Given the description of an element on the screen output the (x, y) to click on. 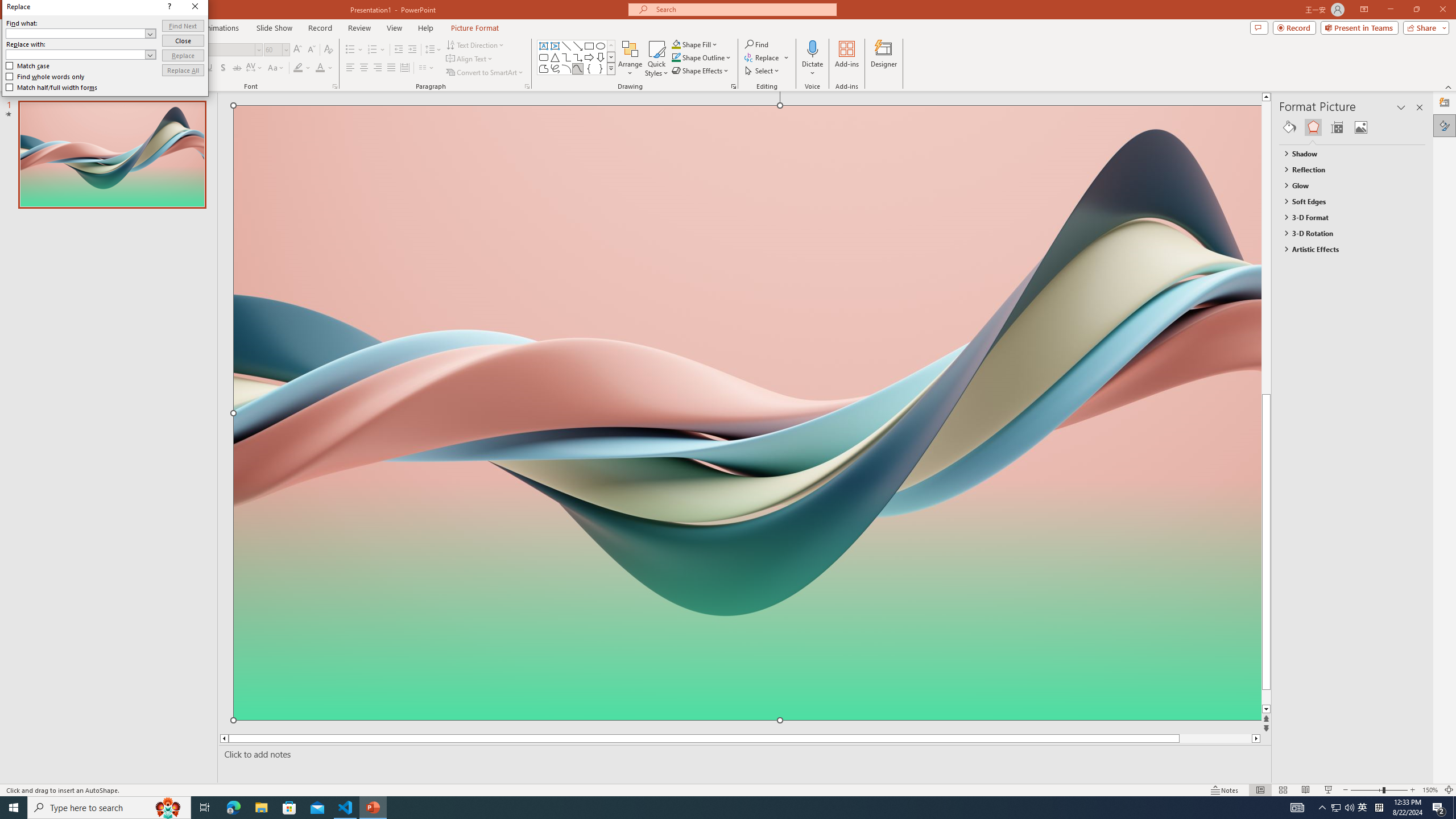
Wavy 3D art (747, 412)
Reflection (1347, 169)
Effects (1313, 126)
Shape Effects (700, 69)
